Given the description of an element on the screen output the (x, y) to click on. 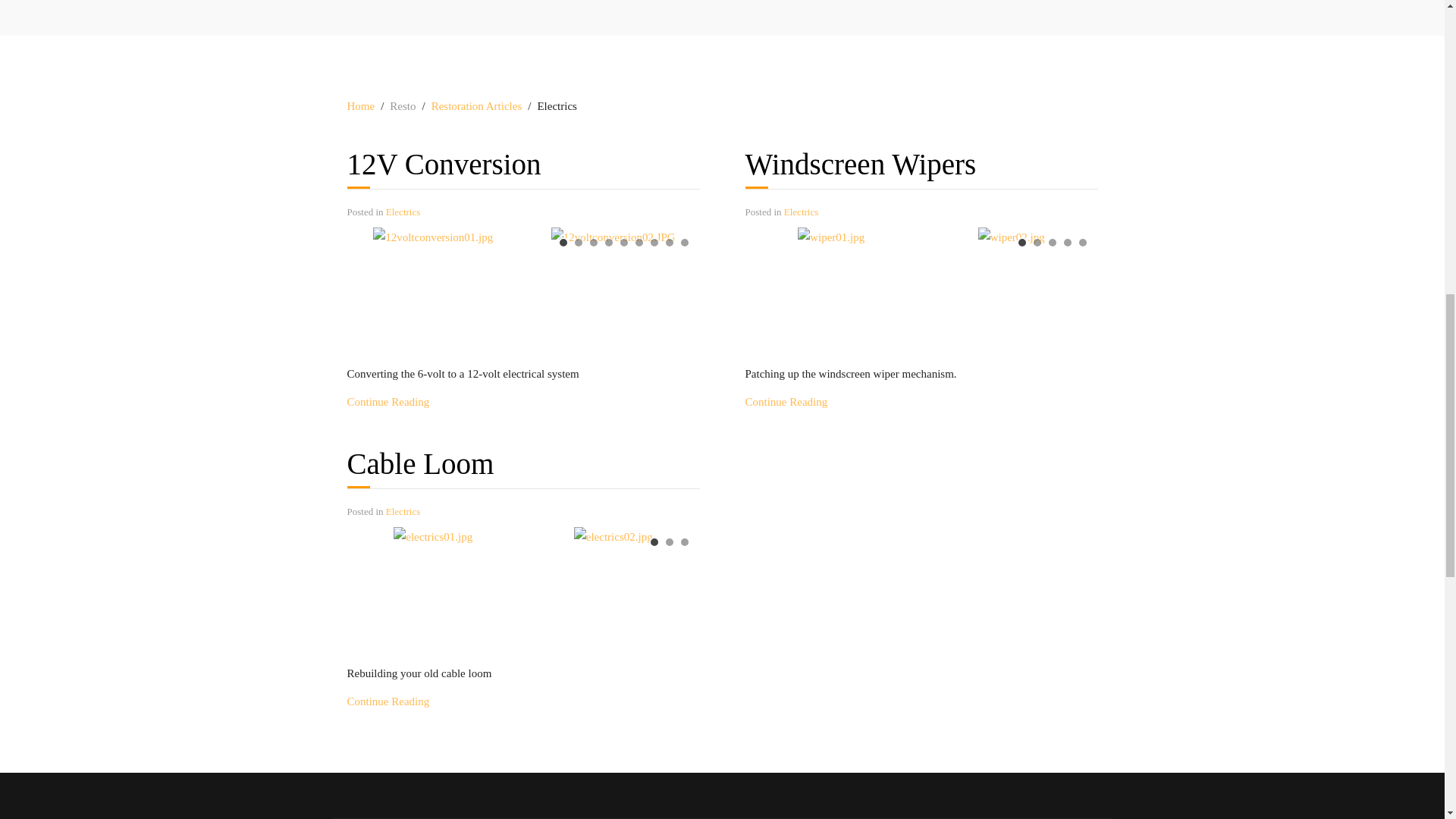
Windscreen Wipers (859, 164)
Home (361, 106)
Electrics (402, 211)
Electrics (402, 511)
Continue Reading (388, 401)
Cable Loom (388, 701)
12V Conversion (444, 164)
Windscreen Wipers (785, 401)
12V Conversion (388, 401)
Cable Loom (421, 463)
